Given the description of an element on the screen output the (x, y) to click on. 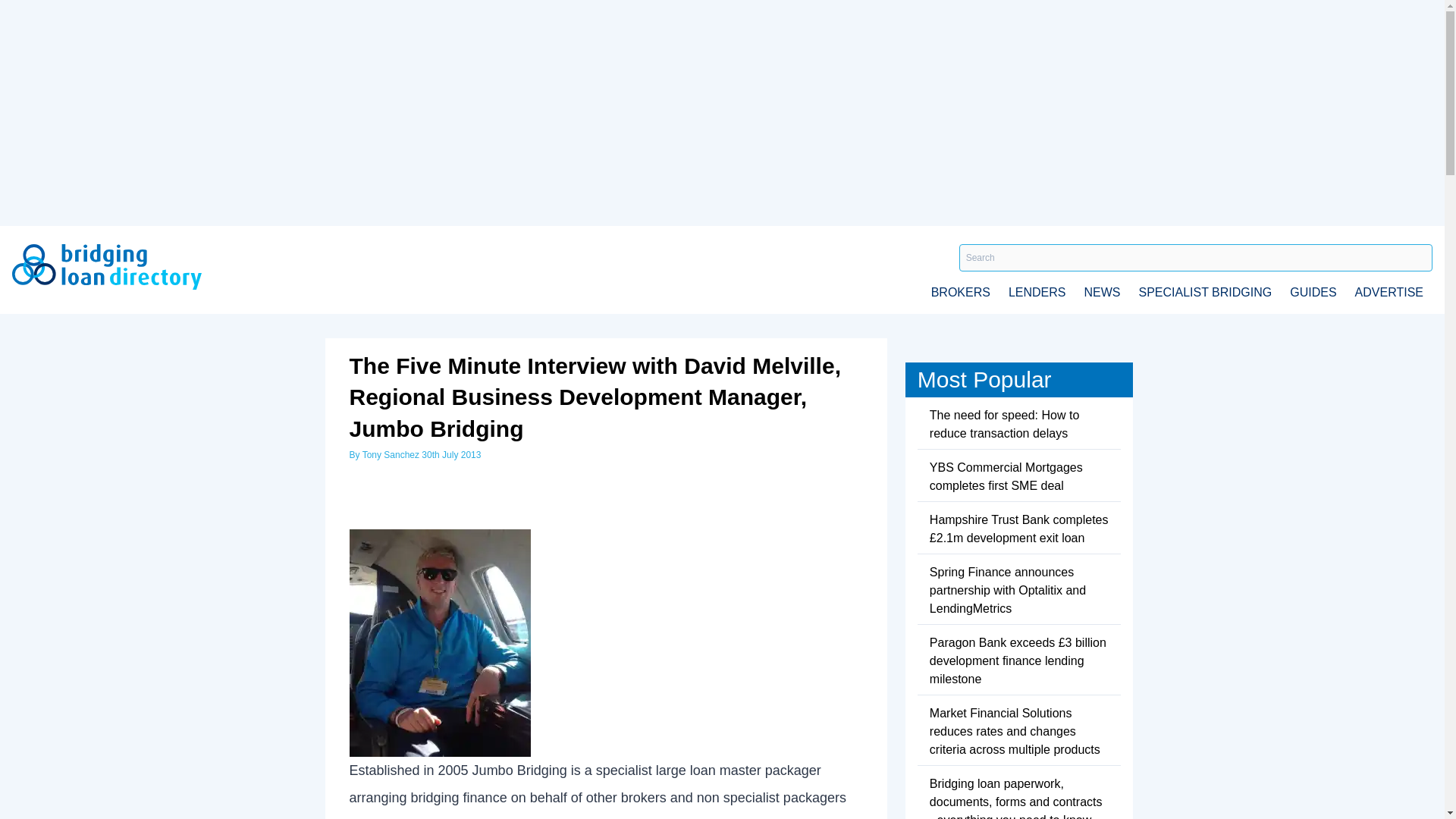
Posts by Tony Sanchez (390, 454)
